Given the description of an element on the screen output the (x, y) to click on. 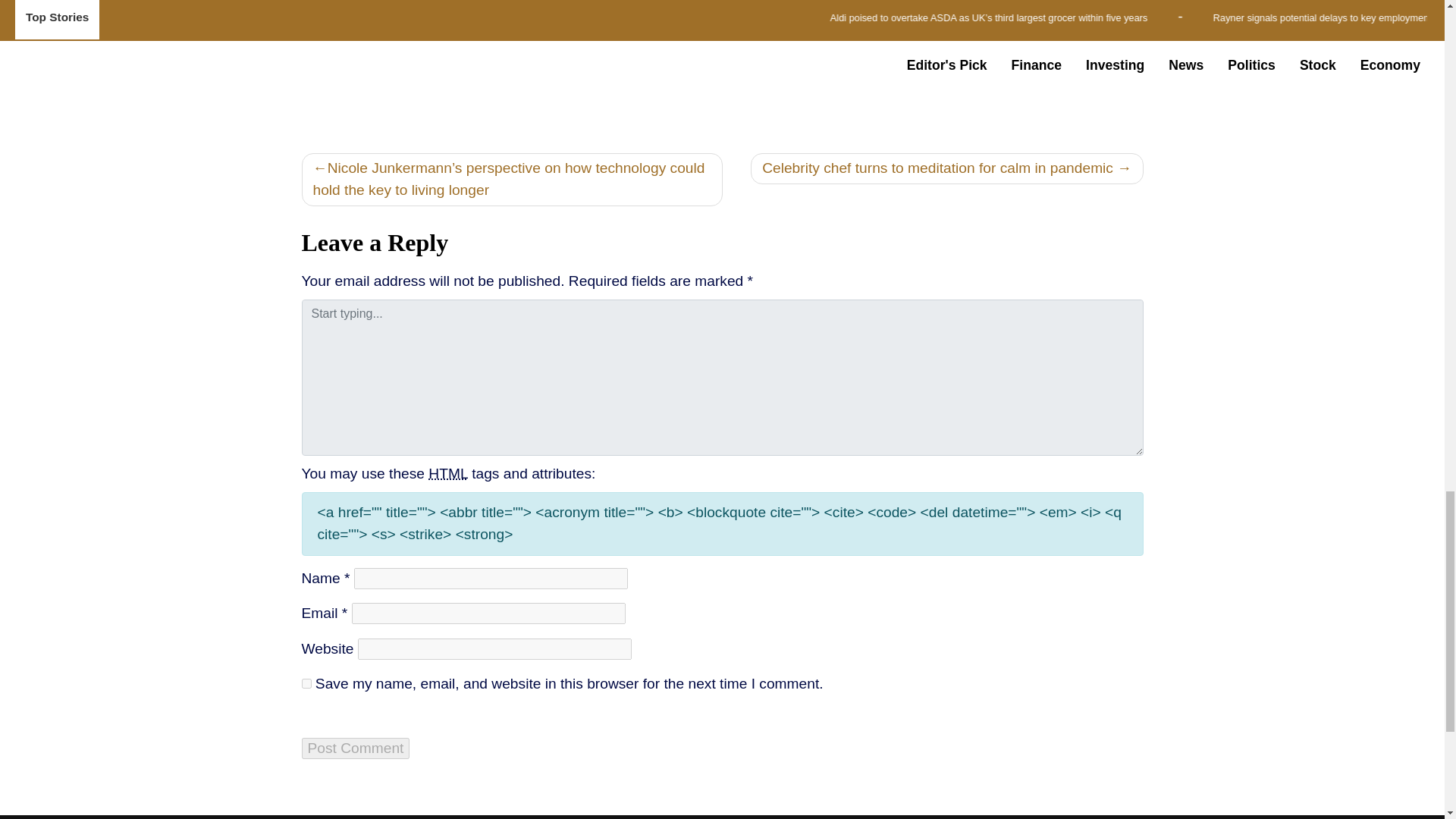
yes (306, 683)
Post Comment (355, 748)
HyperText Markup Language (447, 473)
Celebrity chef turns to meditation for calm in pandemic (946, 168)
Post Comment (355, 748)
Menzies LLP (950, 9)
